Given the description of an element on the screen output the (x, y) to click on. 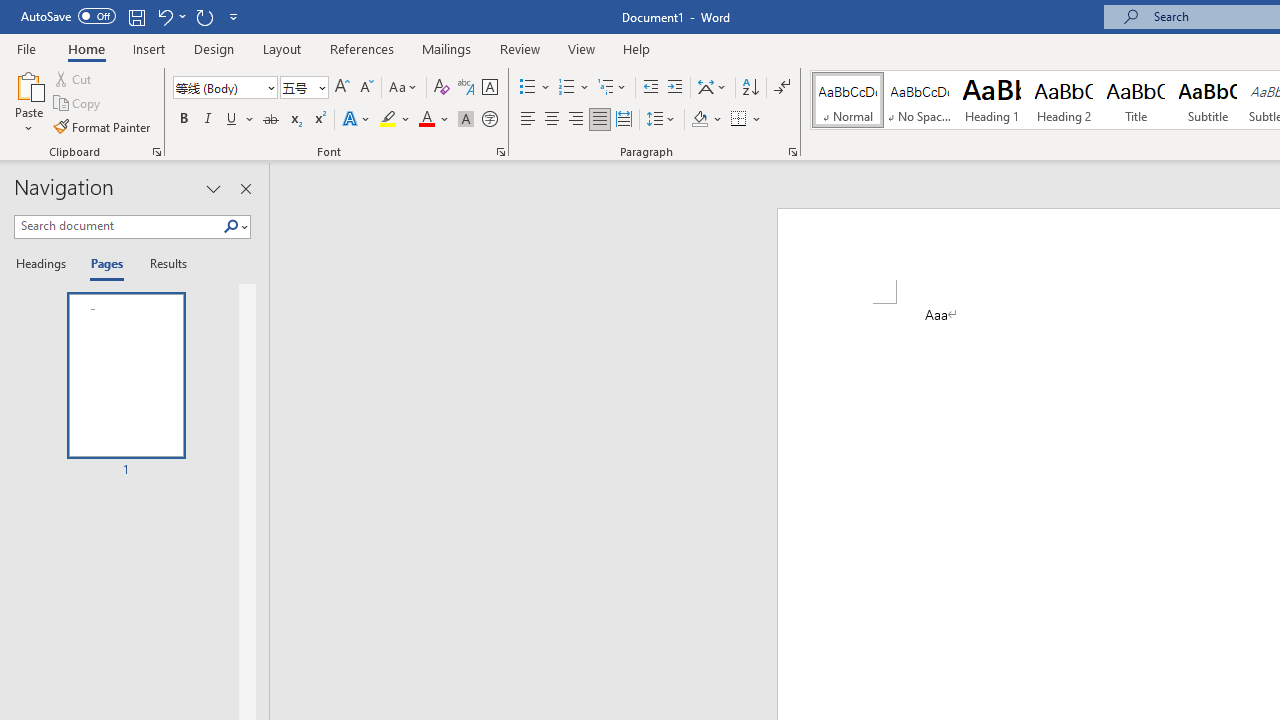
Undo Increase Indent (164, 15)
